Given the description of an element on the screen output the (x, y) to click on. 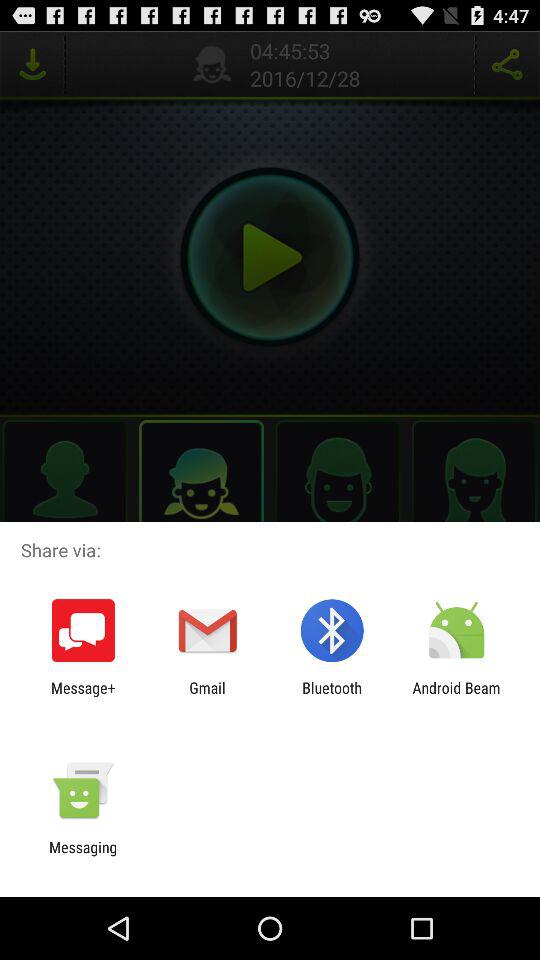
open the item to the left of the android beam icon (331, 696)
